Given the description of an element on the screen output the (x, y) to click on. 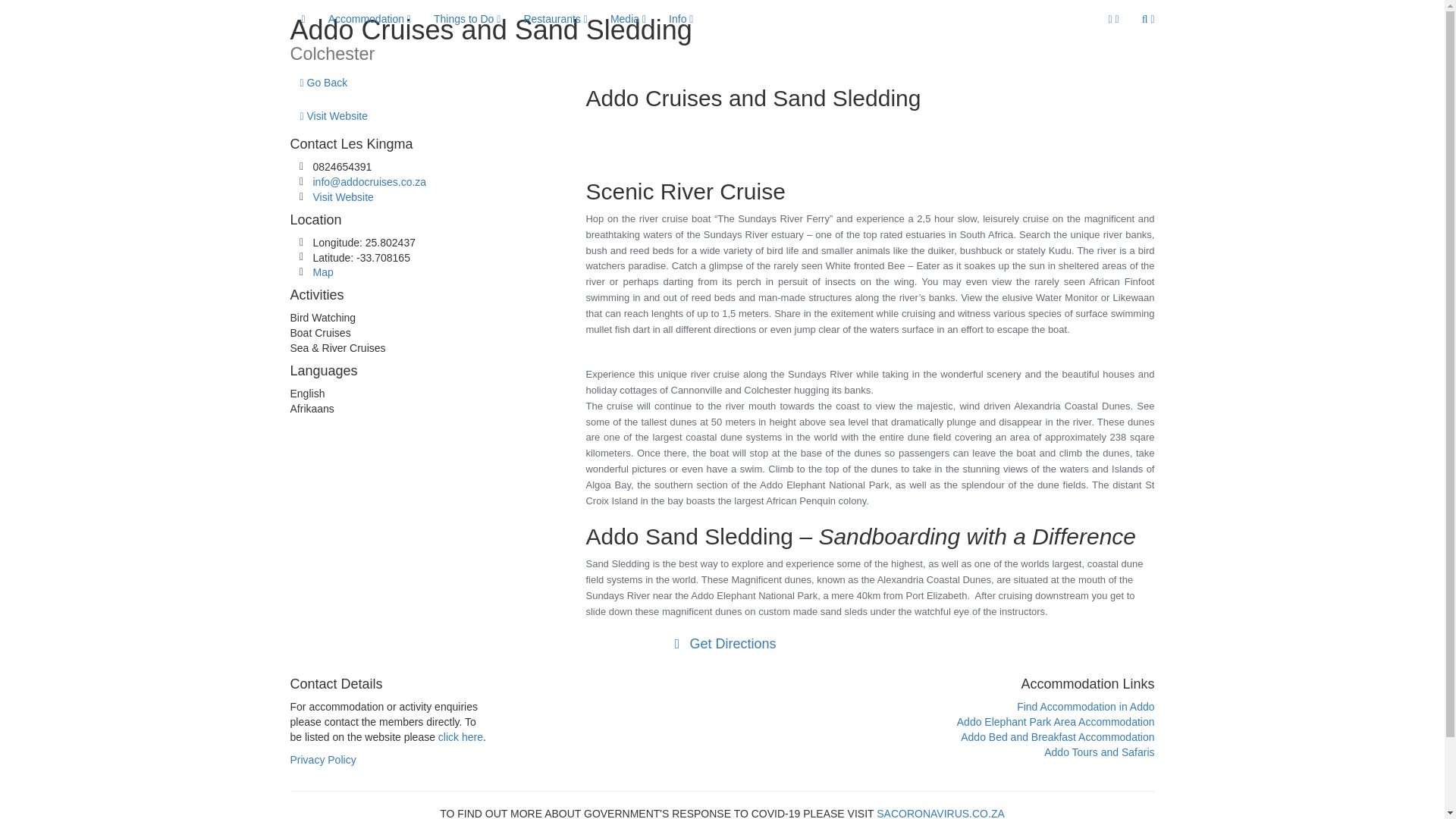
Media (628, 18)
Info (681, 18)
Search (1148, 18)
Restaurants (555, 18)
Accommodation (369, 18)
Things to Do (467, 18)
Map (323, 272)
